Given the description of an element on the screen output the (x, y) to click on. 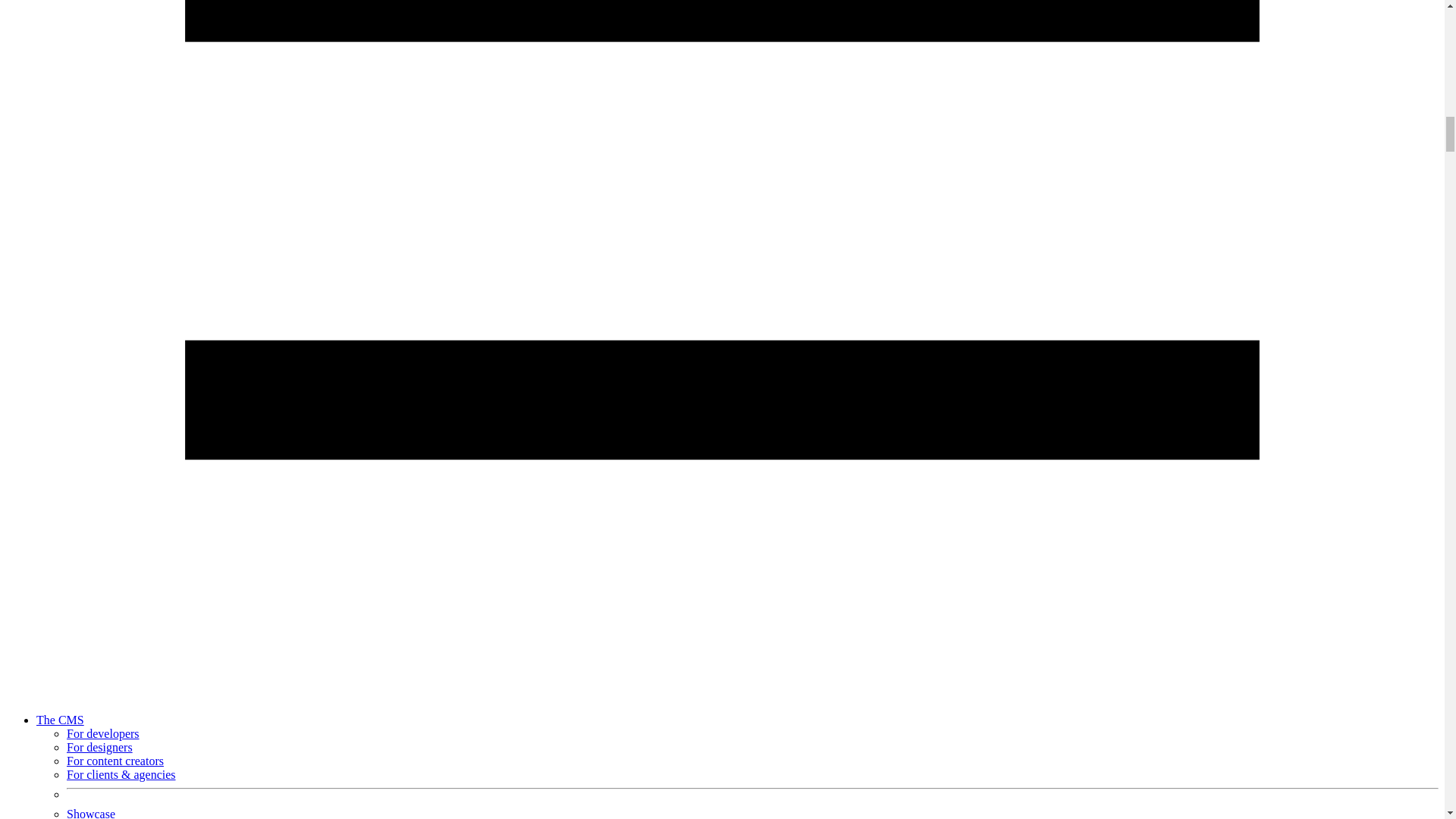
For designers (99, 747)
For content creators (114, 760)
Showcase (90, 813)
For developers (102, 733)
The CMS (60, 719)
